Given the description of an element on the screen output the (x, y) to click on. 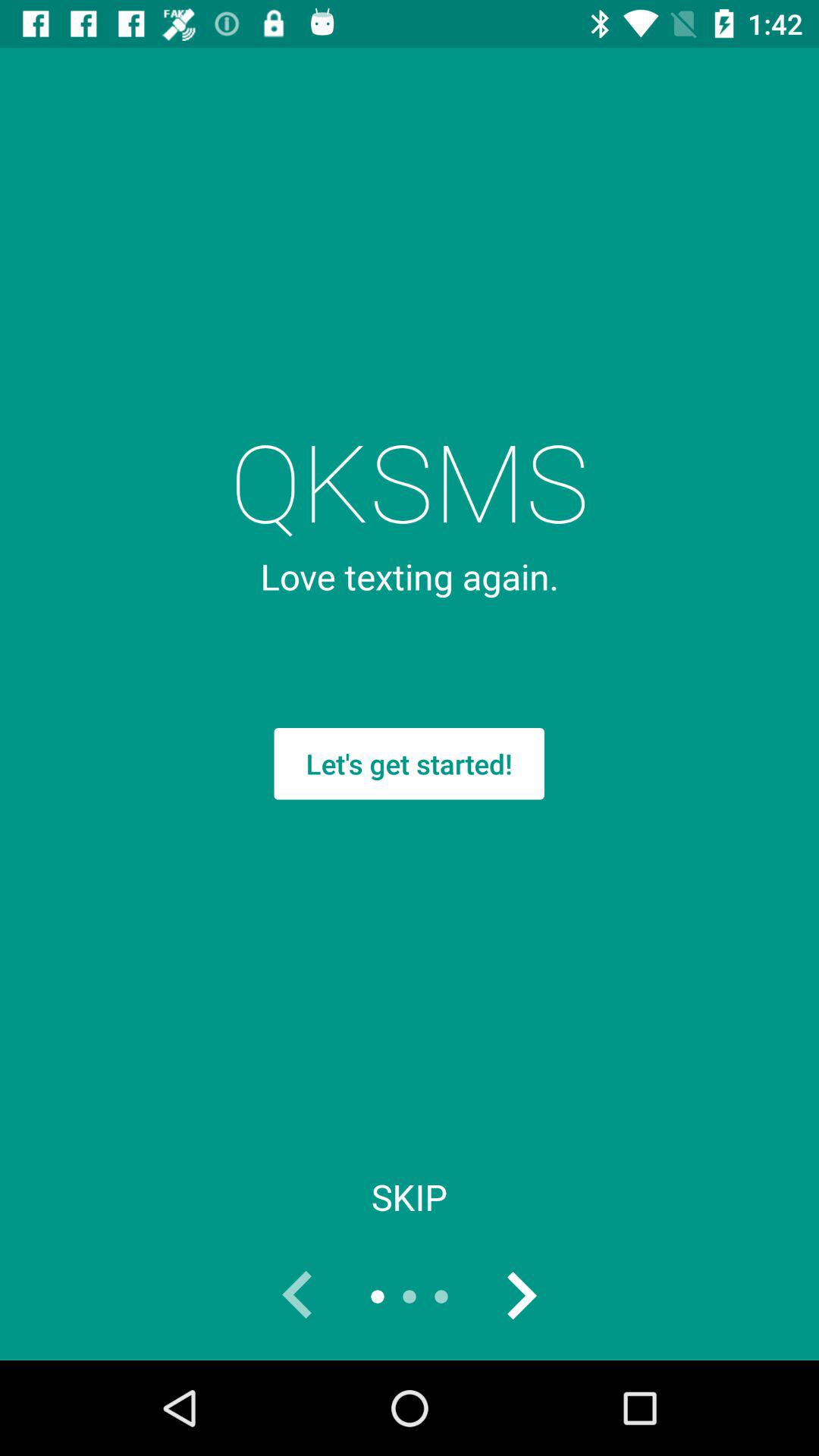
choose icon above skip icon (409, 763)
